Given the description of an element on the screen output the (x, y) to click on. 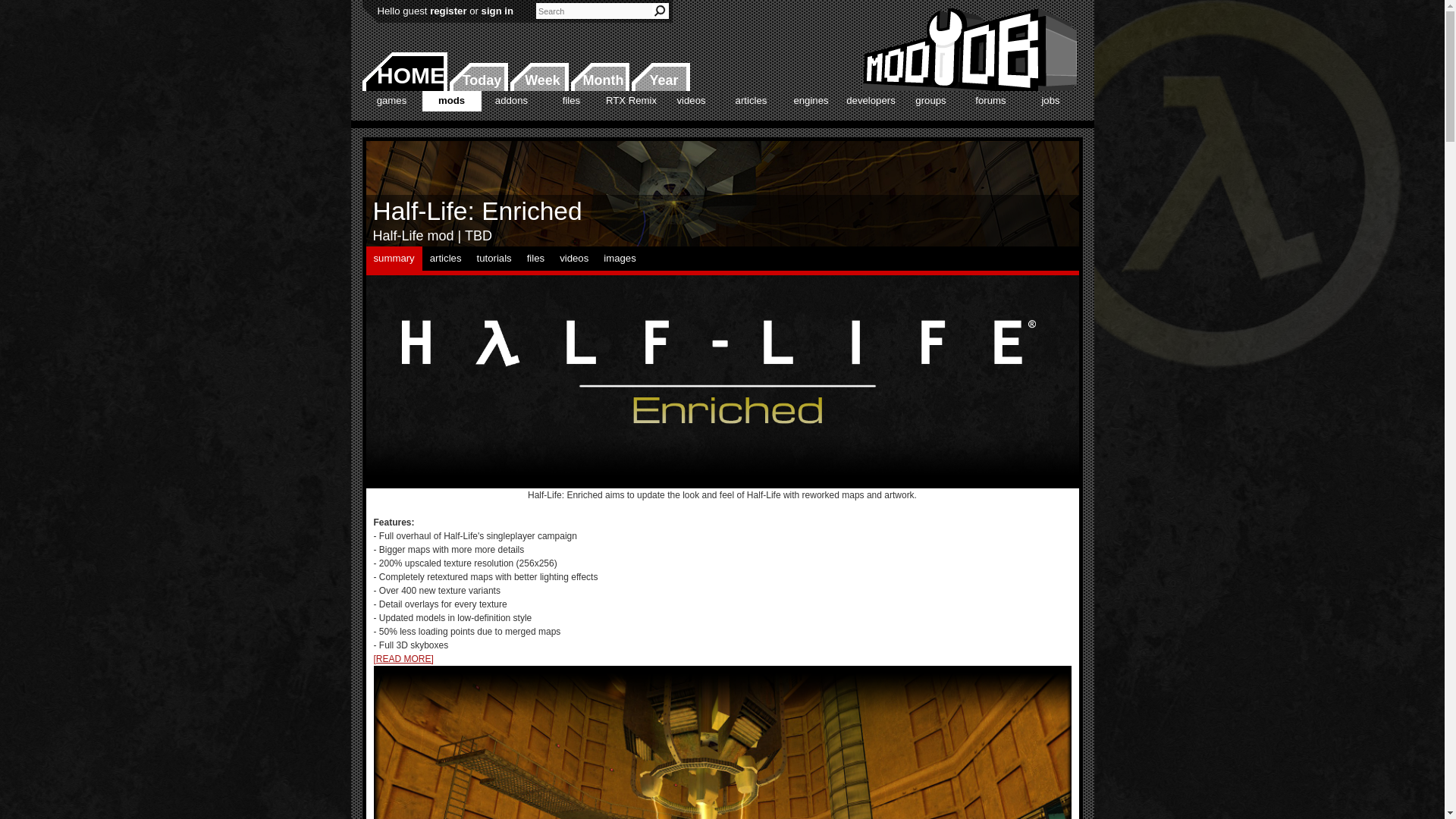
games (392, 100)
New today (478, 76)
videos (690, 100)
Week (539, 76)
files (570, 100)
addons (511, 100)
Month (599, 76)
New this month (599, 76)
HOME (405, 71)
New this week (539, 76)
